Given the description of an element on the screen output the (x, y) to click on. 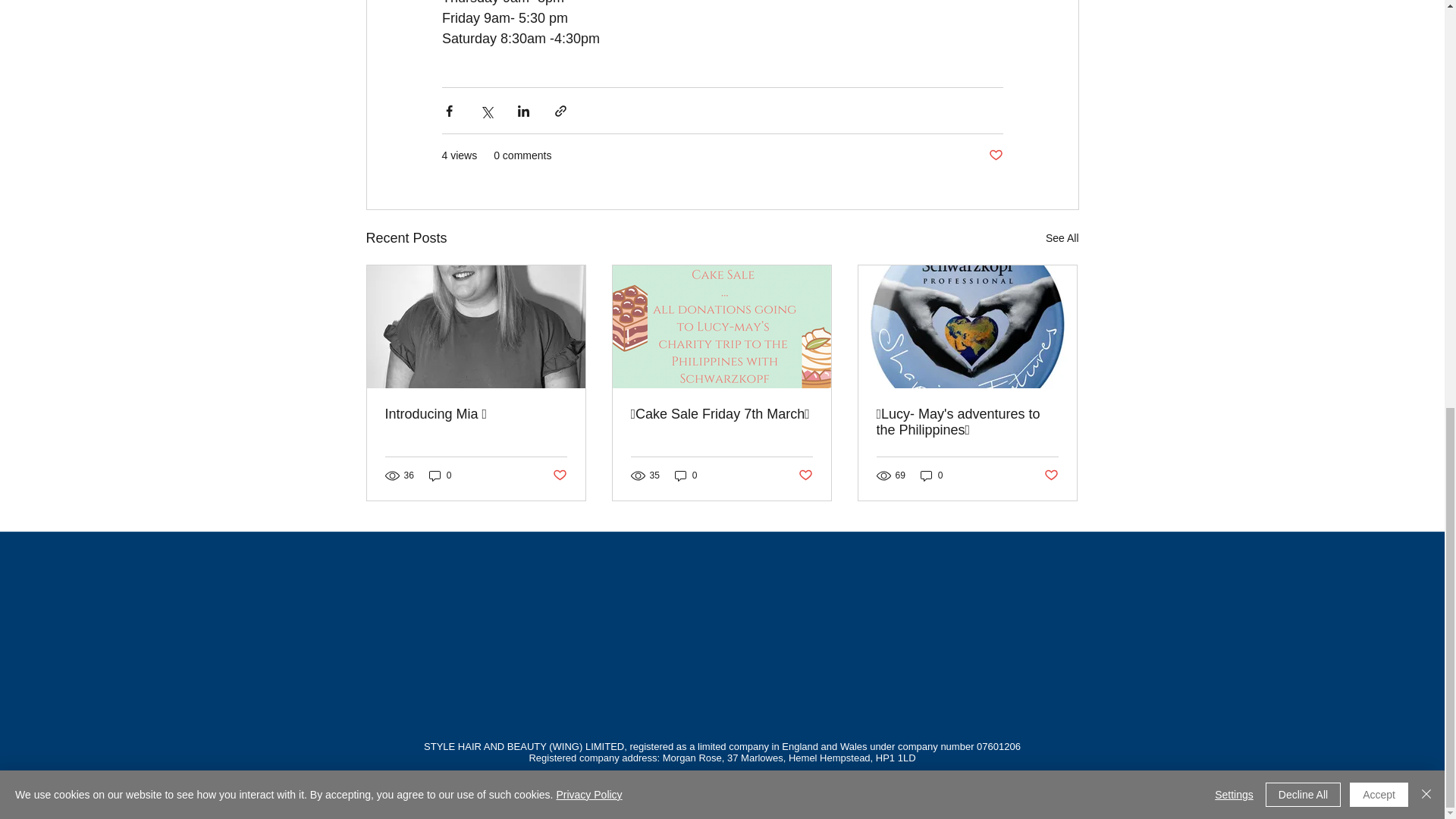
0 (440, 475)
Post not marked as liked (995, 155)
See All (1061, 238)
Post not marked as liked (558, 475)
